Given the description of an element on the screen output the (x, y) to click on. 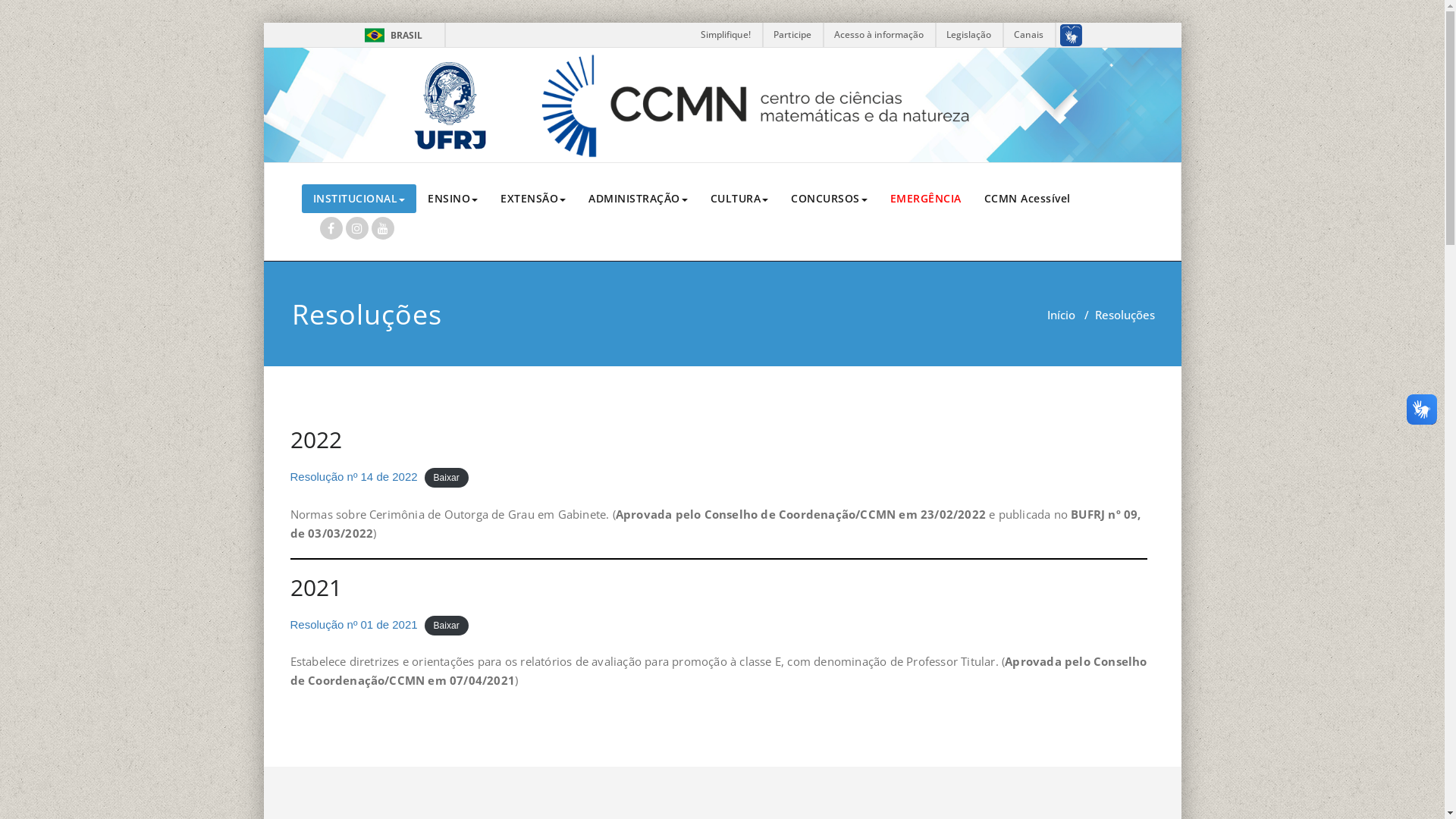
Canais Element type: text (1029, 34)
ENSINO Element type: text (452, 198)
CULTURA Element type: text (739, 198)
Participe Element type: text (792, 34)
BRASIL Element type: text (373, 35)
Baixar Element type: text (446, 477)
INSTITUCIONAL Element type: text (359, 198)
Baixar Element type: text (446, 625)
CONCURSOS Element type: text (828, 198)
Simplifique! Element type: text (725, 34)
